Given the description of an element on the screen output the (x, y) to click on. 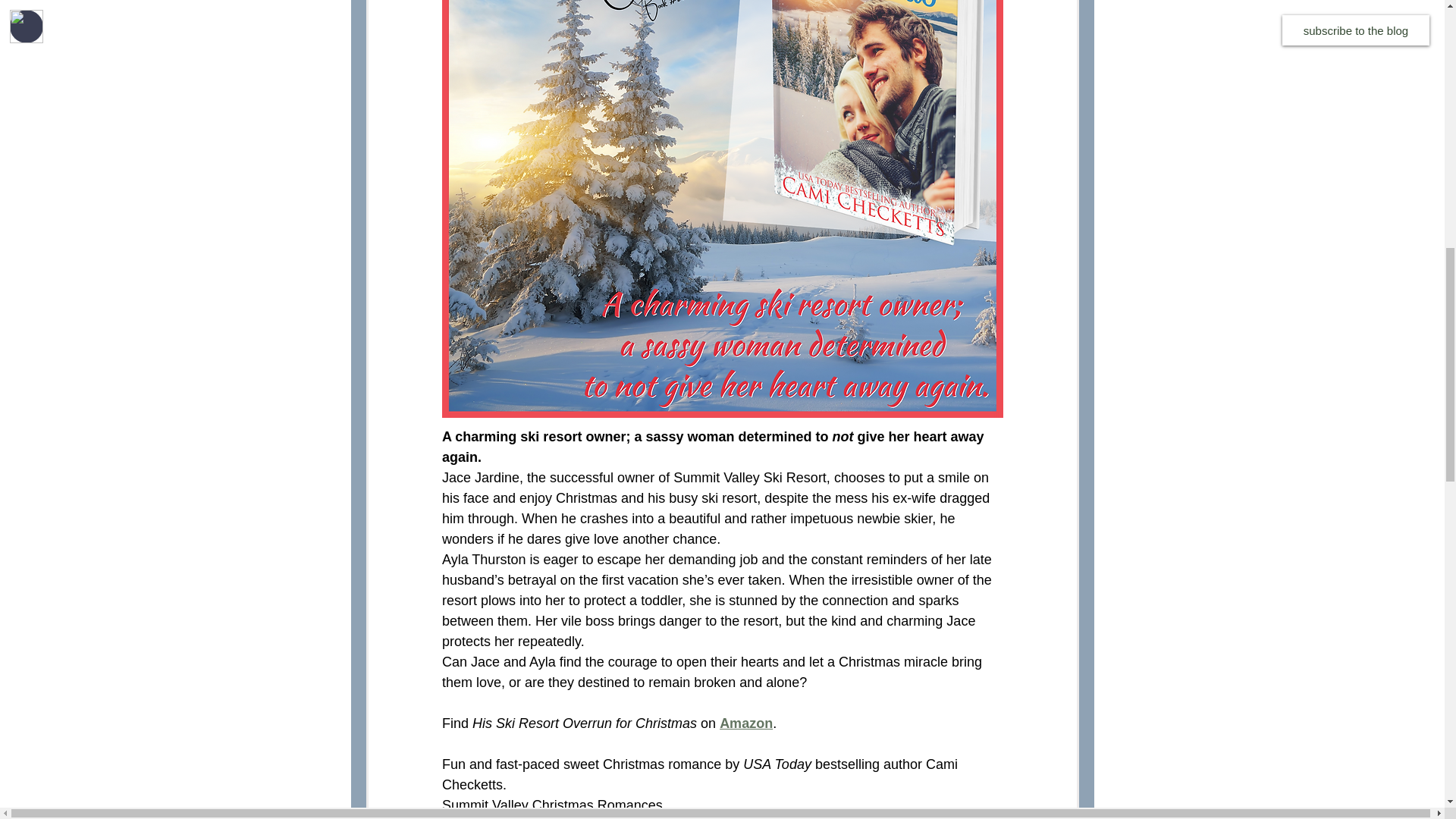
Amazon (746, 723)
